Given the description of an element on the screen output the (x, y) to click on. 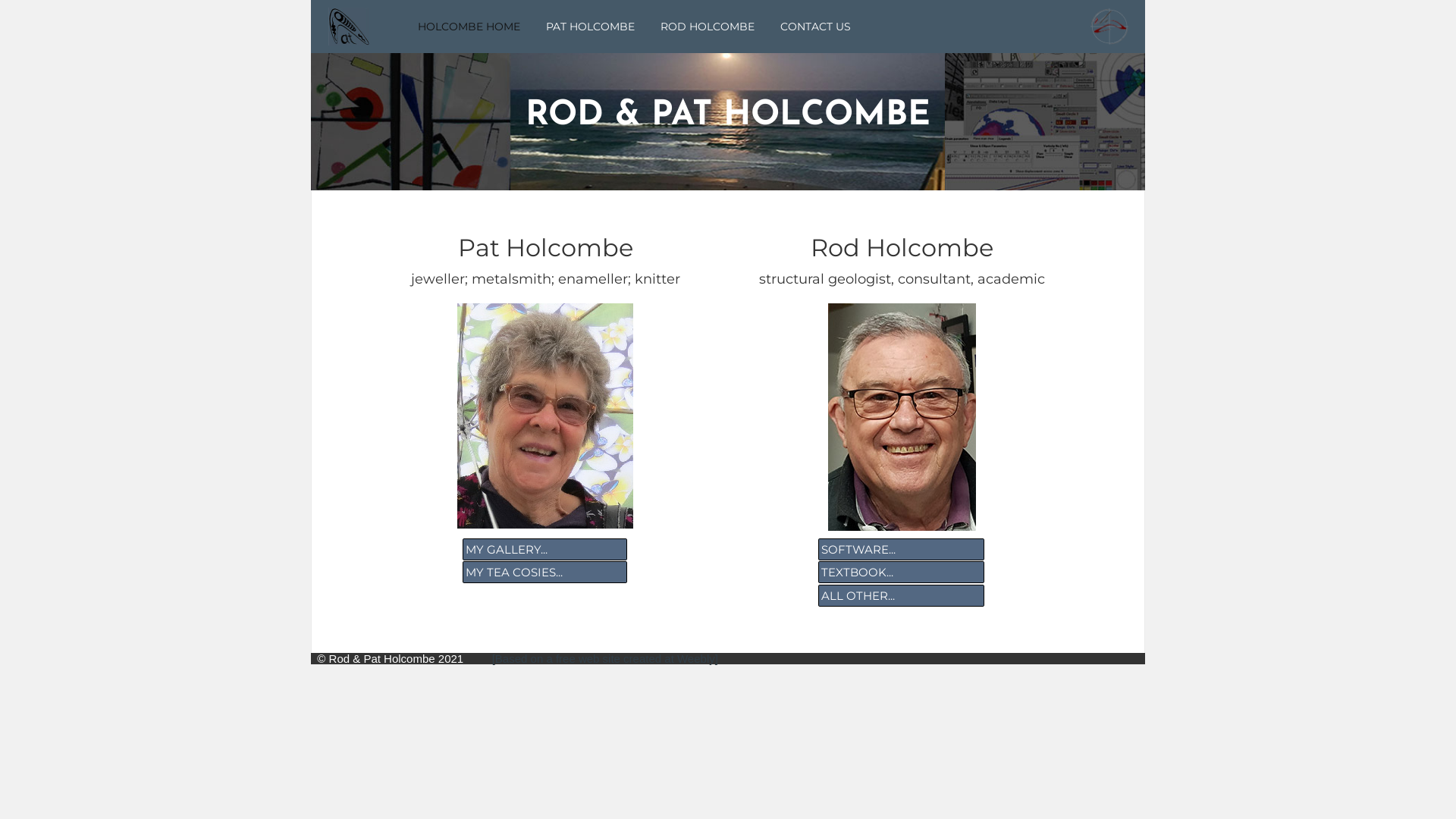
Pat Holcombe jewellery logo Element type: hover (348, 26)
MY TEA COSIES... Element type: text (544, 572)
        [Based on a free web site created at Weebly] Element type: text (592, 658)
HOLCOMBE HOME Element type: text (468, 26)
TEXTBOOK... Element type: text (901, 572)
SOFTWARE... Element type: text (901, 549)
ROD HOLCOMBE Element type: text (707, 26)
Rod Holcombe logo Element type: hover (1109, 26)
ALL OTHER... Element type: text (901, 595)
MY GALLERY... Element type: text (544, 549)
PAT HOLCOMBE Element type: text (590, 26)
CONTACT US Element type: text (809, 26)
